Given the description of an element on the screen output the (x, y) to click on. 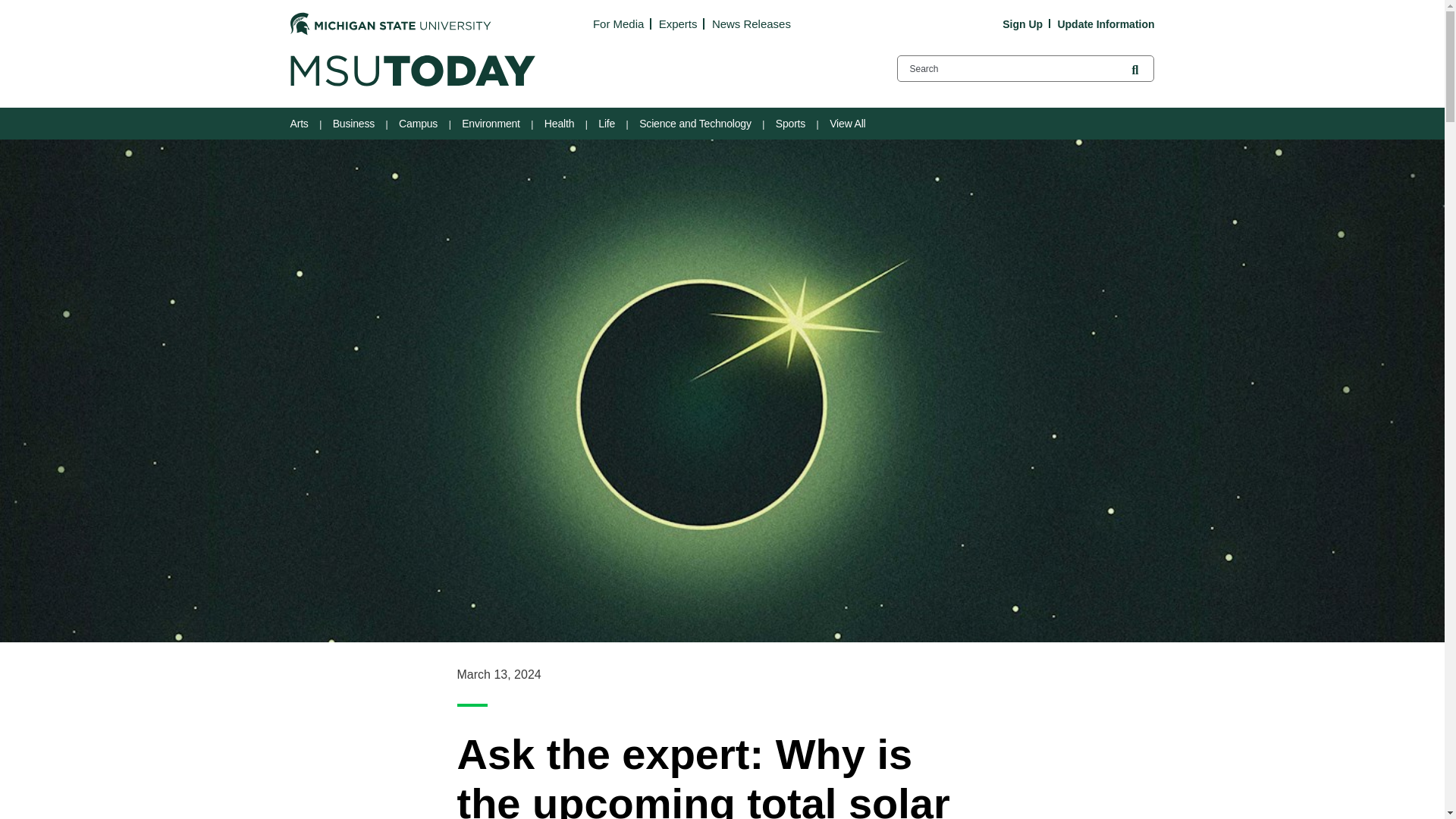
Experts (678, 23)
View All (848, 123)
Michigan State University (389, 23)
Michigan State University (389, 22)
Update Information (1105, 24)
MSUTODAY (411, 70)
Environment (492, 123)
Business (355, 123)
Health (560, 123)
For Media (617, 23)
Sign Up (1022, 24)
News Releases (750, 23)
Science and Technology (696, 123)
Sports (791, 123)
